Given the description of an element on the screen output the (x, y) to click on. 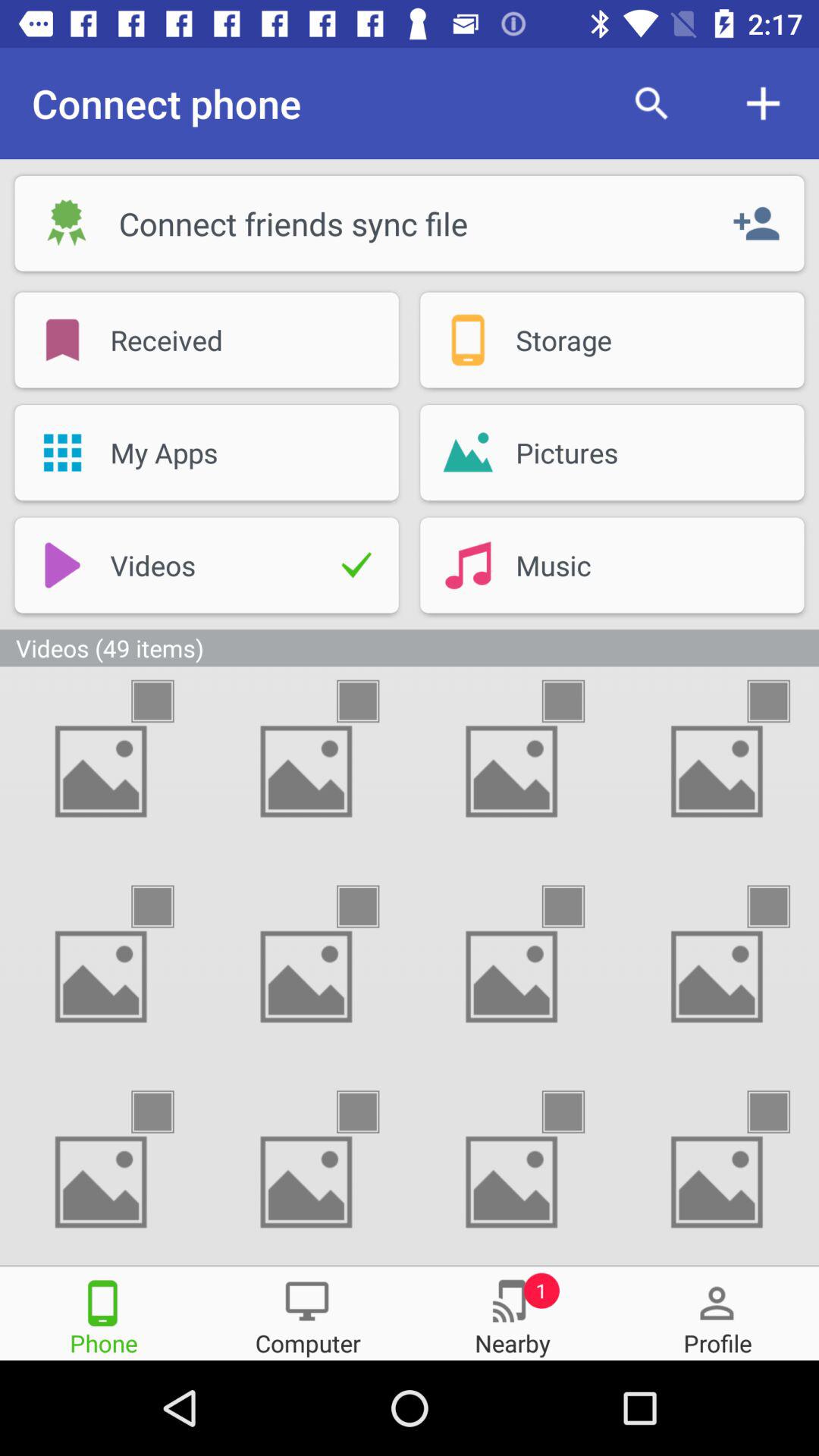
select video (782, 700)
